Given the description of an element on the screen output the (x, y) to click on. 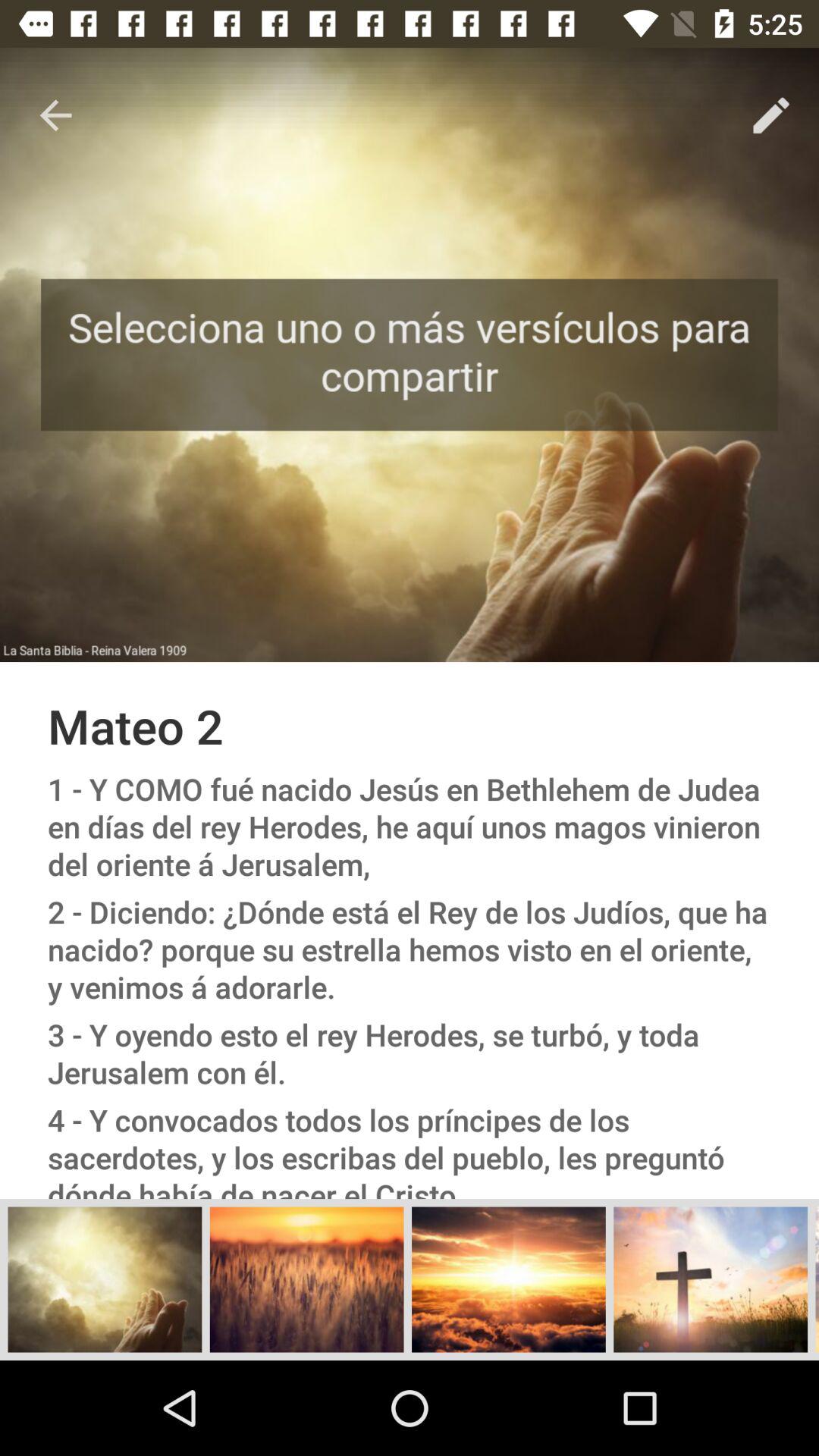
jump until the 4 y convocados item (409, 1146)
